Given the description of an element on the screen output the (x, y) to click on. 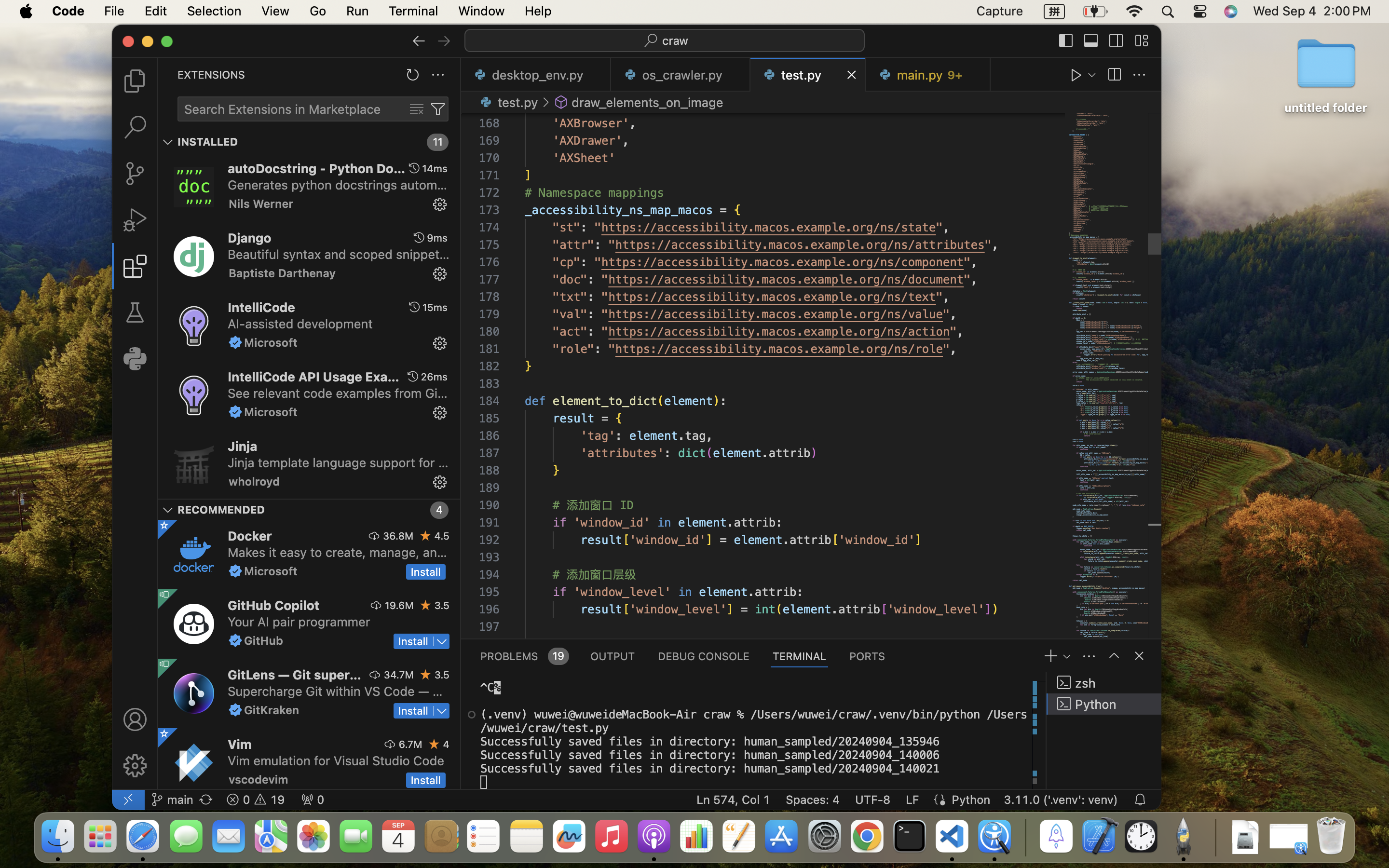
 Element type: AXCheckBox (1065, 40)
 Element type: AXStaticText (167, 141)
 Element type: AXStaticText (425, 535)
 Element type: AXStaticText (545, 101)
Beautiful syntax and scoped snippets for perfectionists with deadlines Element type: AXStaticText (338, 253)
